Given the description of an element on the screen output the (x, y) to click on. 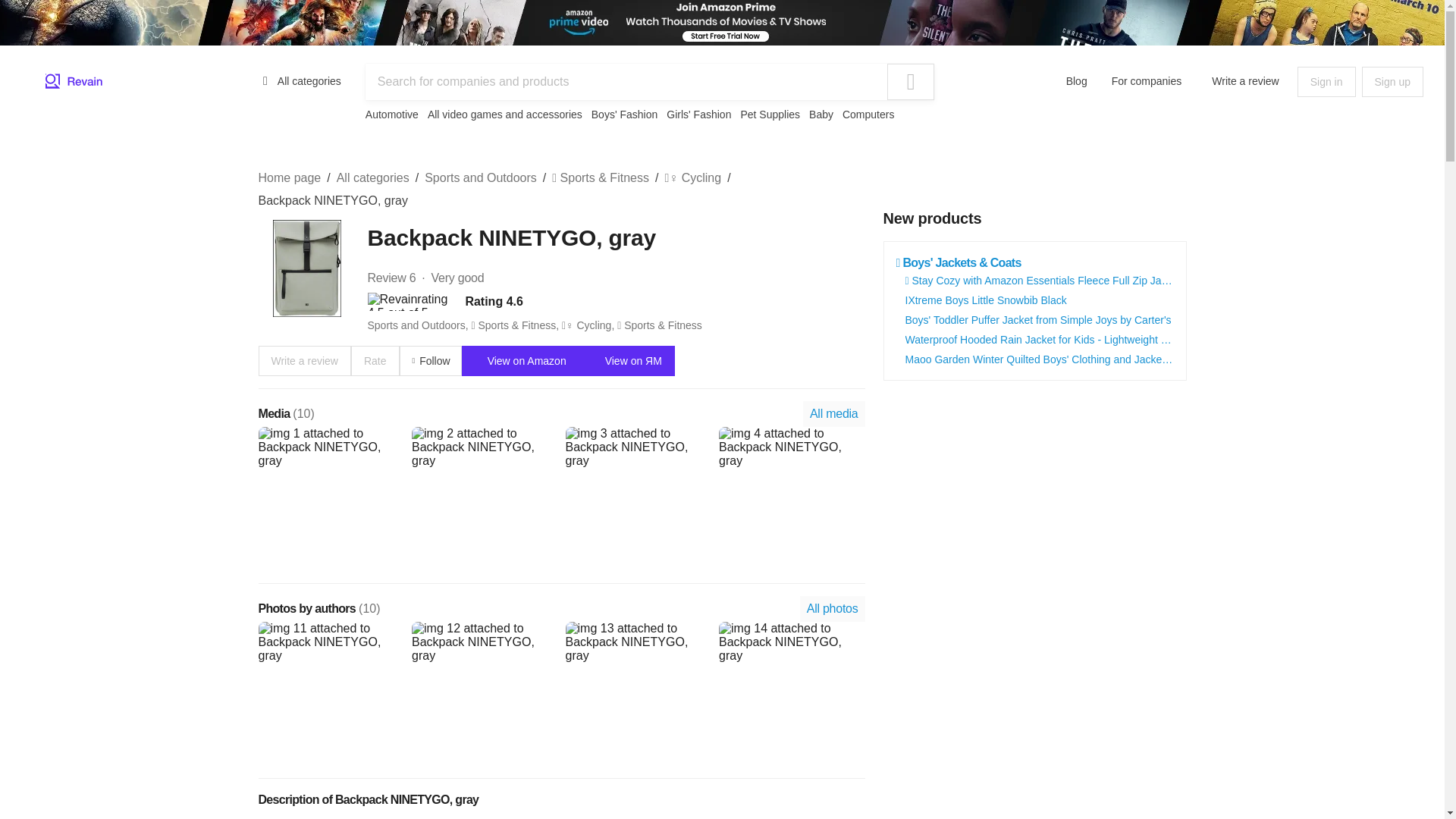
Blog (1076, 80)
All photos (831, 608)
Sign in (1326, 81)
Boys' Toddler Puffer Jacket from Simple Joys by Carter's (1038, 319)
Home page (288, 178)
Rate (374, 360)
Home Page (74, 82)
Home Page (74, 82)
Follow (429, 360)
IXtreme Boys Little Snowbib Black (986, 300)
Sign up (1392, 81)
View on Amazon (520, 360)
Search (909, 81)
For companies (1146, 80)
Automotive (392, 113)
